Given the description of an element on the screen output the (x, y) to click on. 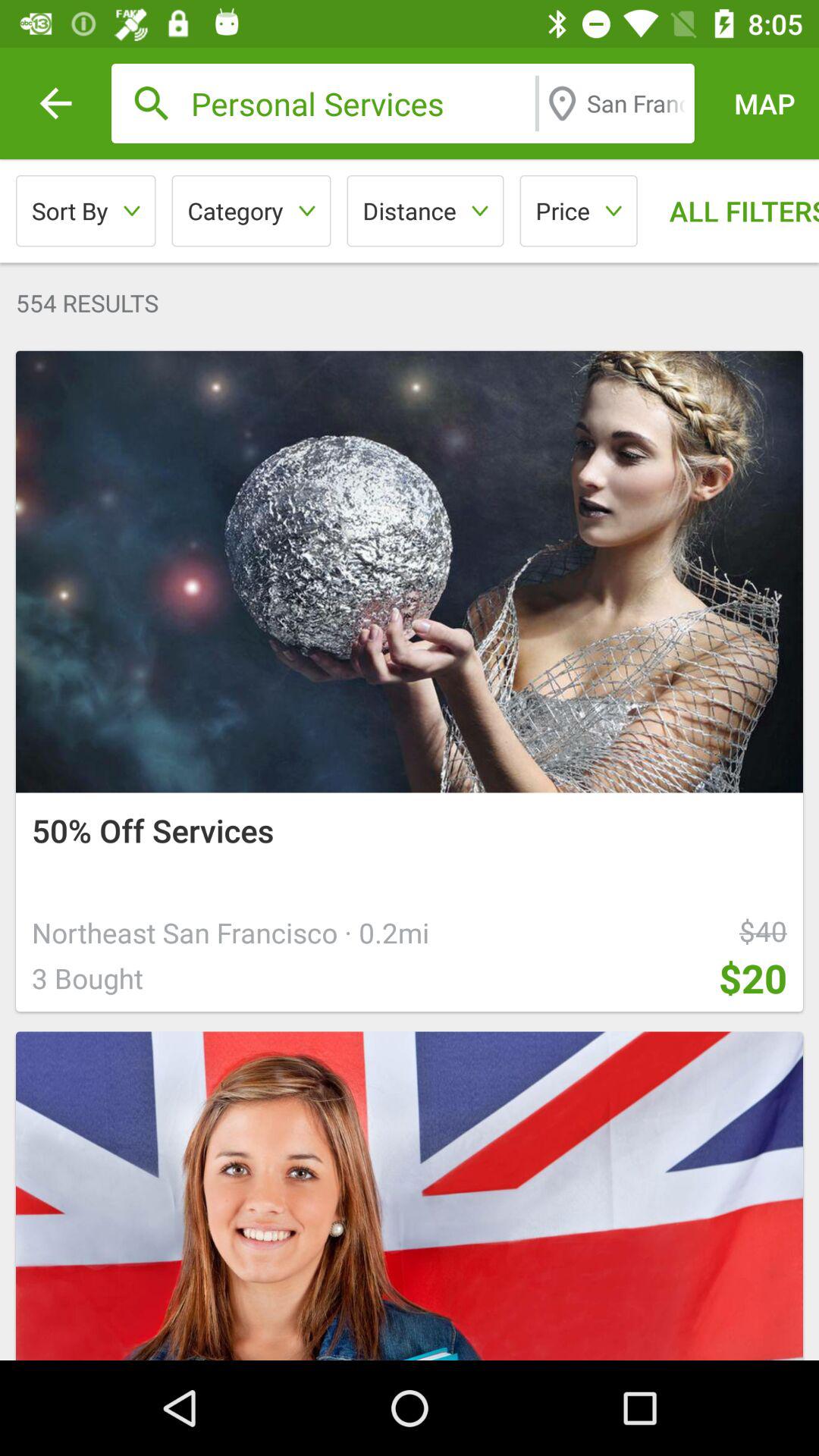
tap icon to the right of distance item (578, 210)
